Given the description of an element on the screen output the (x, y) to click on. 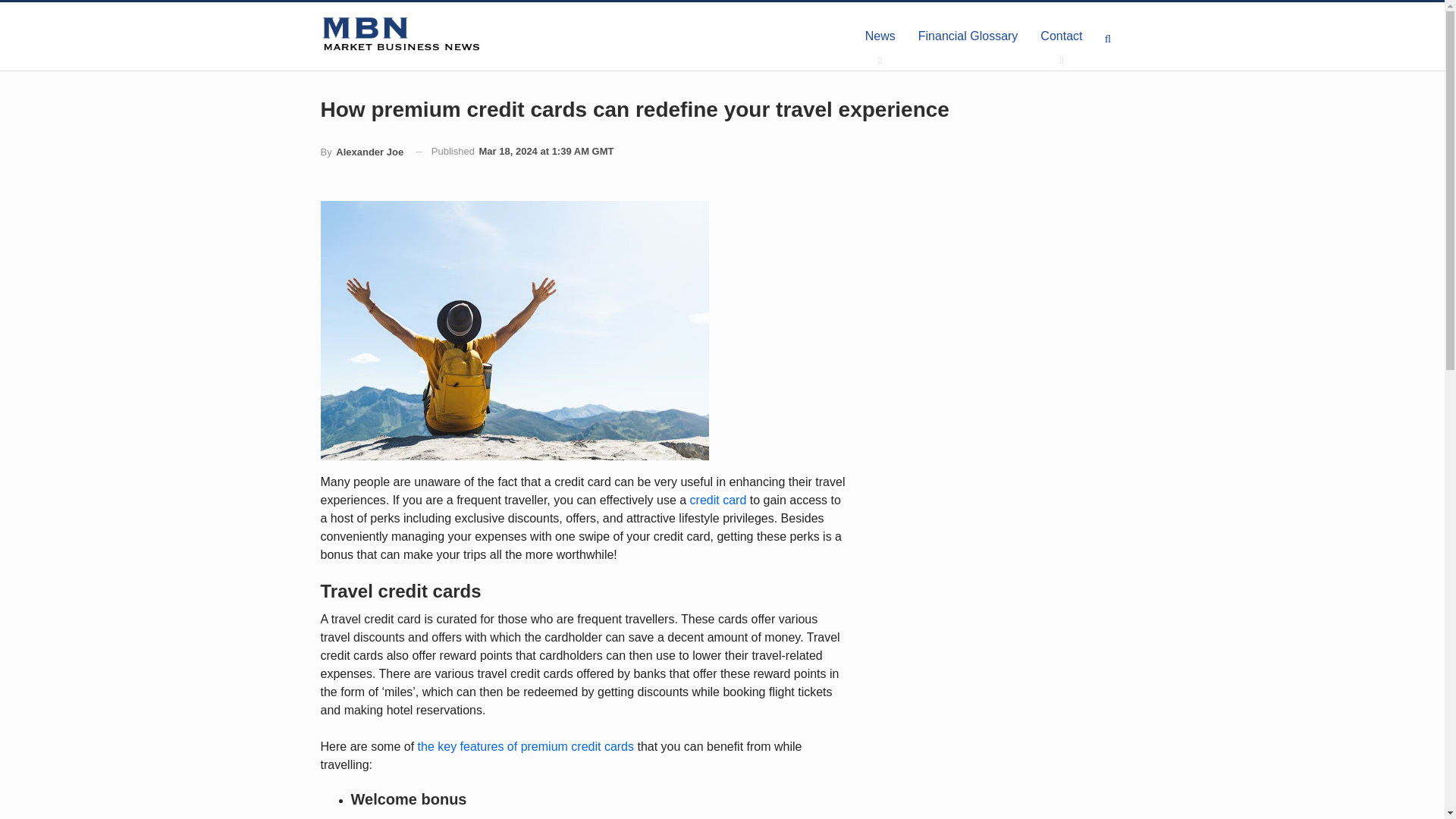
Browse Author Articles (361, 152)
Financial Glossary (968, 36)
Contact (1061, 36)
the key features of premium credit cards (525, 746)
credit card (718, 499)
By Alexander Joe (361, 152)
